Given the description of an element on the screen output the (x, y) to click on. 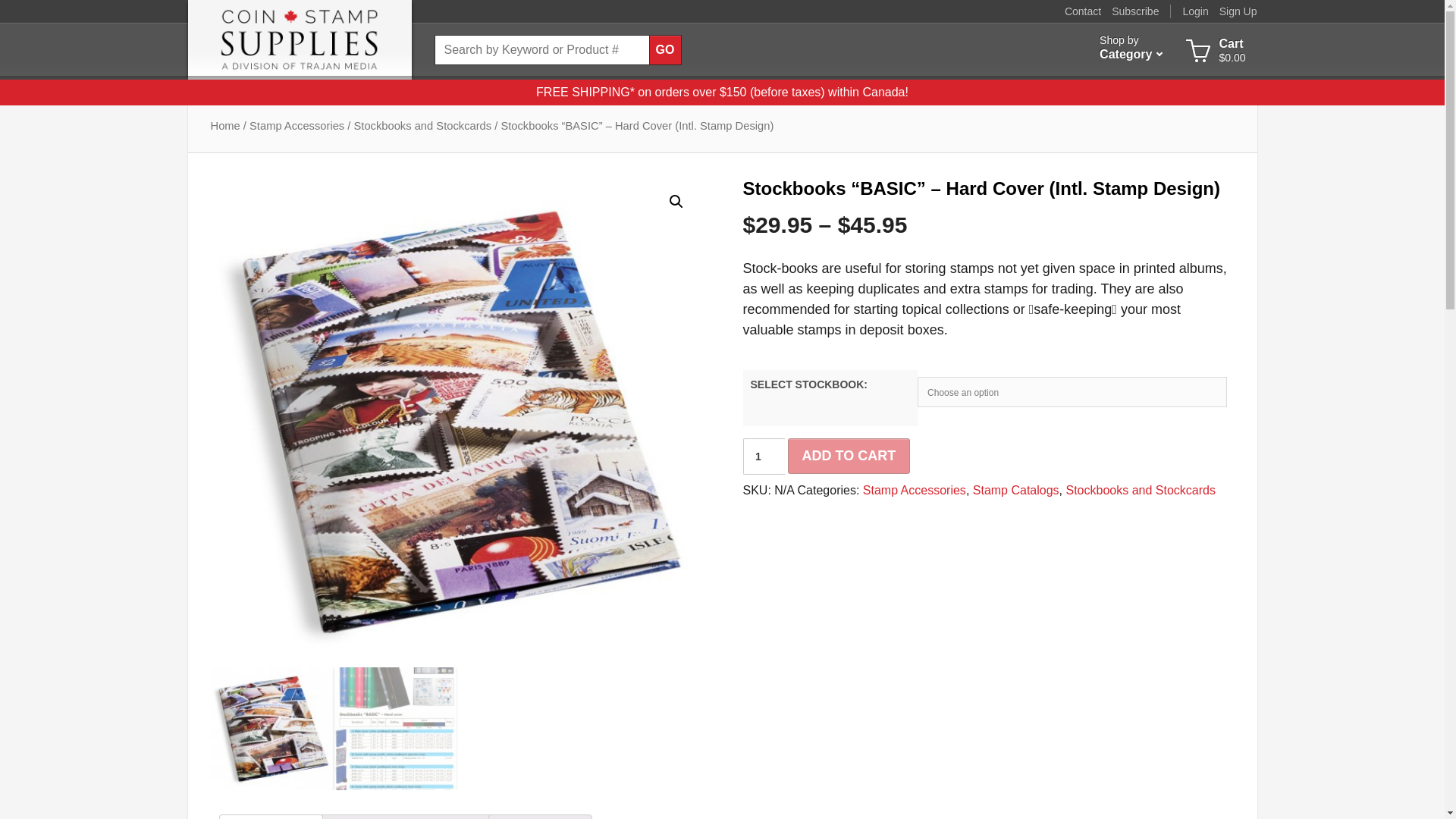
Go (1130, 49)
STAMP S16 (665, 50)
Subscribe (1194, 10)
View your shopping cart (1134, 10)
Go (1214, 49)
Qty (665, 50)
1 (763, 456)
Sign Up (763, 456)
Contact (1238, 10)
